Given the description of an element on the screen output the (x, y) to click on. 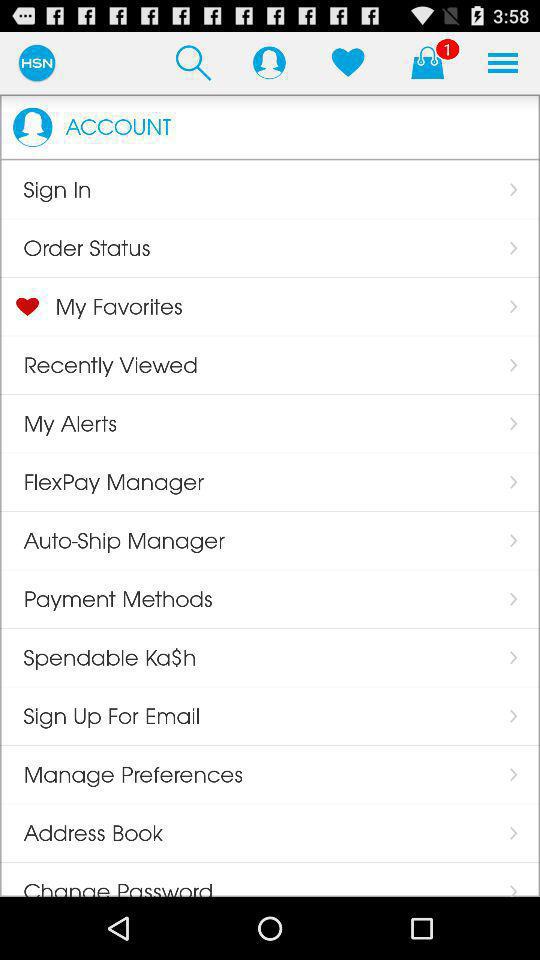
flip until flexpay manager app (102, 482)
